Given the description of an element on the screen output the (x, y) to click on. 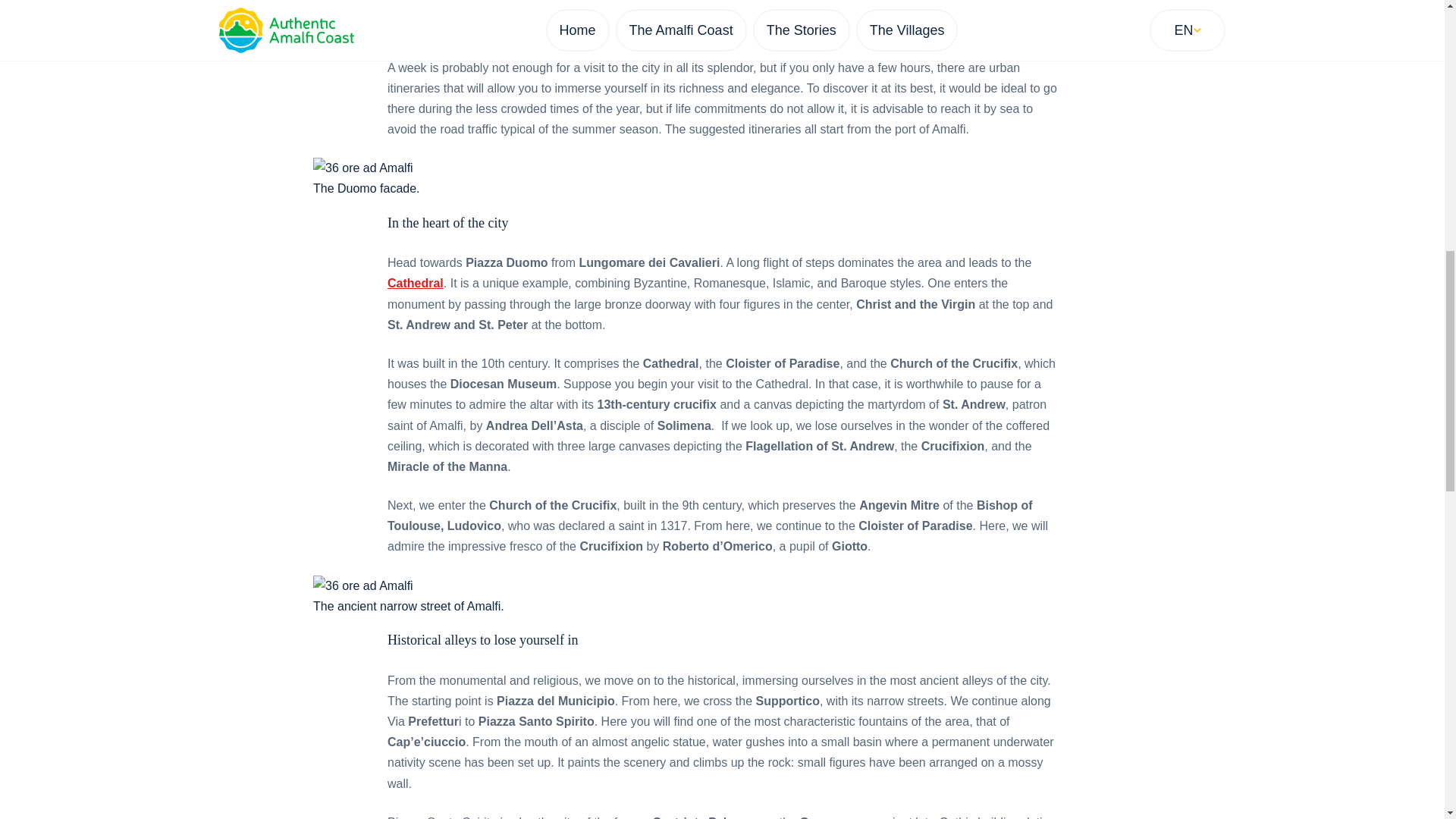
FareHarbor (1342, 64)
Cathedral (415, 282)
